Given the description of an element on the screen output the (x, y) to click on. 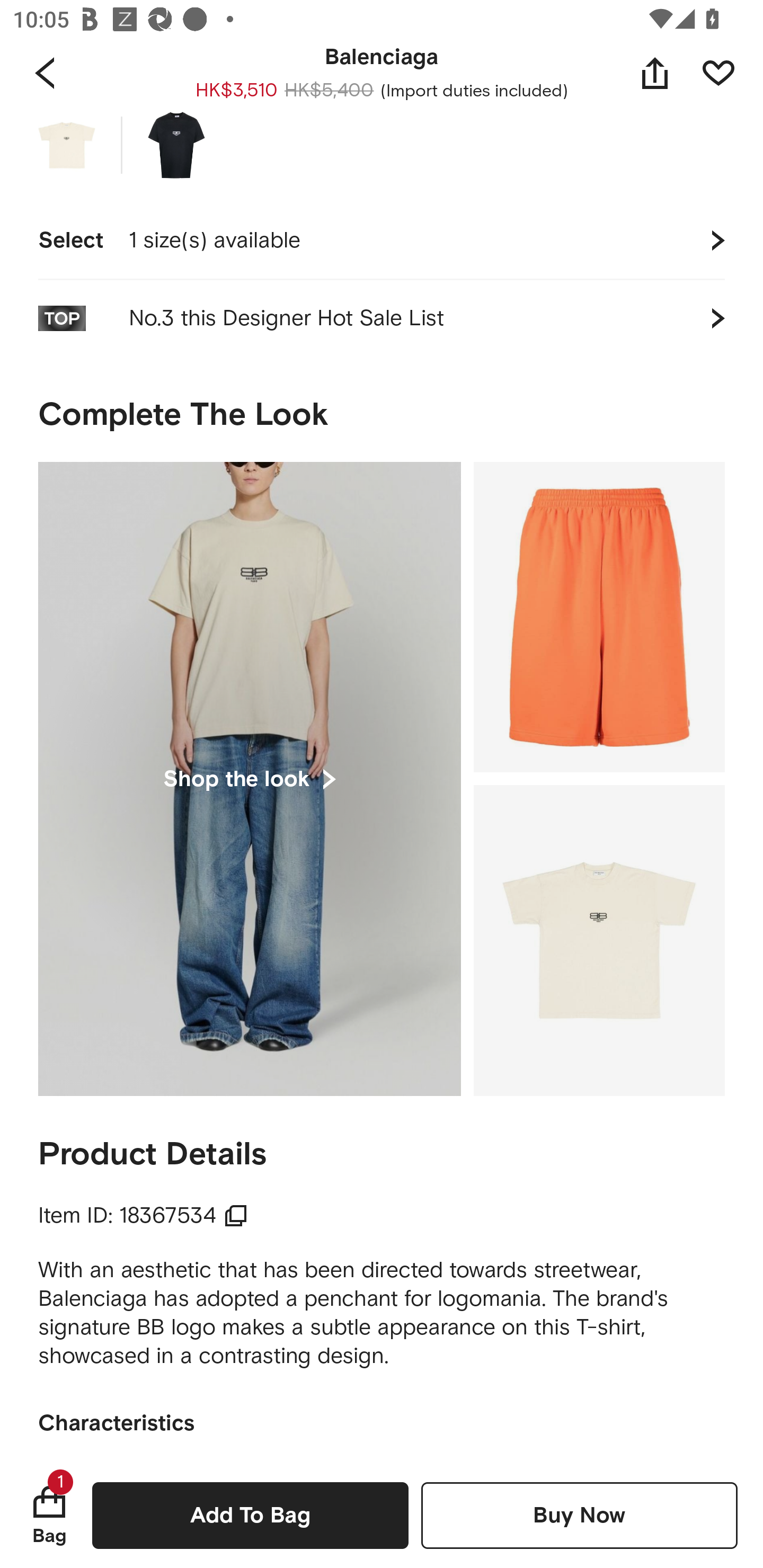
Select 1 size(s) available (381, 241)
No.3 this Designer Hot Sale List (381, 317)
Item ID: 18367534 (143, 1215)
Bag 1 (49, 1515)
Add To Bag (250, 1515)
Buy Now (579, 1515)
